Given the description of an element on the screen output the (x, y) to click on. 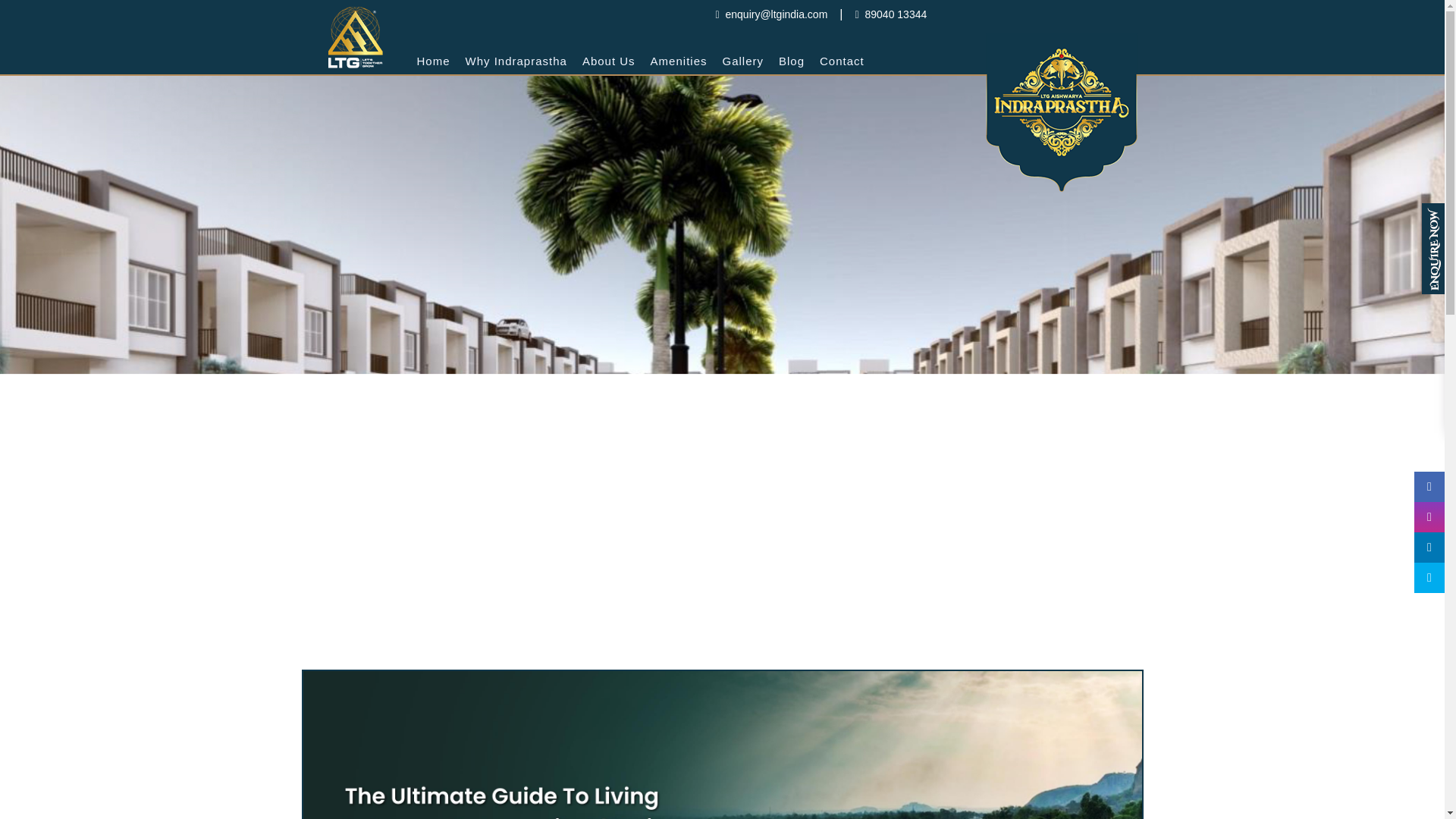
Why Indraprastha (516, 61)
Blog (791, 61)
Amenities (678, 61)
89040 13344 (891, 14)
About Us (609, 61)
Contact (842, 61)
Gallery (742, 61)
Home (433, 61)
